Given the description of an element on the screen output the (x, y) to click on. 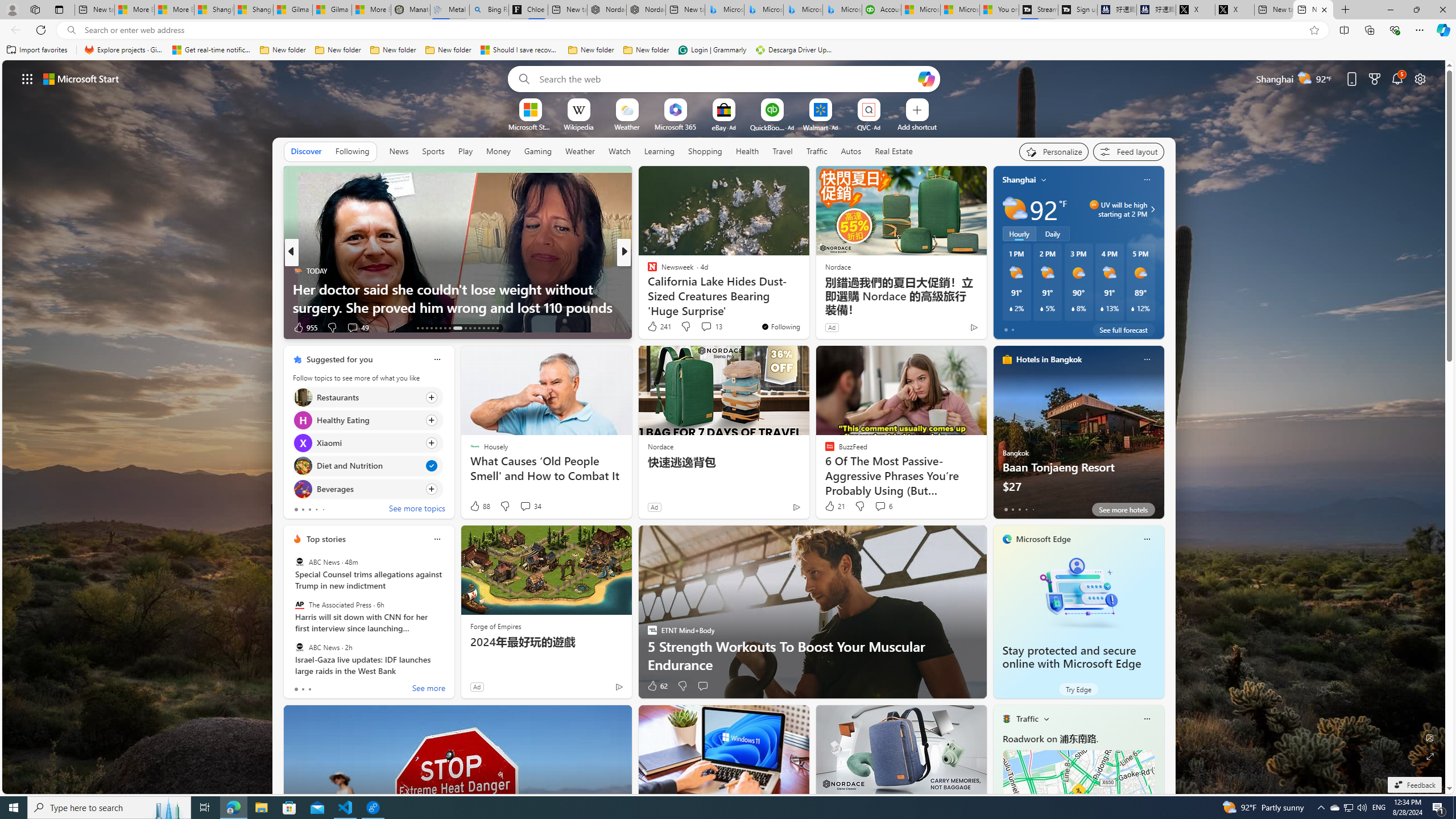
Import favorites (36, 49)
Class: weather-current-precipitation-glyph (1133, 308)
Money (497, 151)
Shopping (705, 151)
View comments 49 Comment (357, 327)
Wikipedia (578, 126)
AutomationID: tab-22 (465, 328)
Feed settings (1128, 151)
Bing Real Estate - Home sales and rental listings (488, 9)
Sports (432, 151)
Microsoft 365 (675, 126)
